Given the description of an element on the screen output the (x, y) to click on. 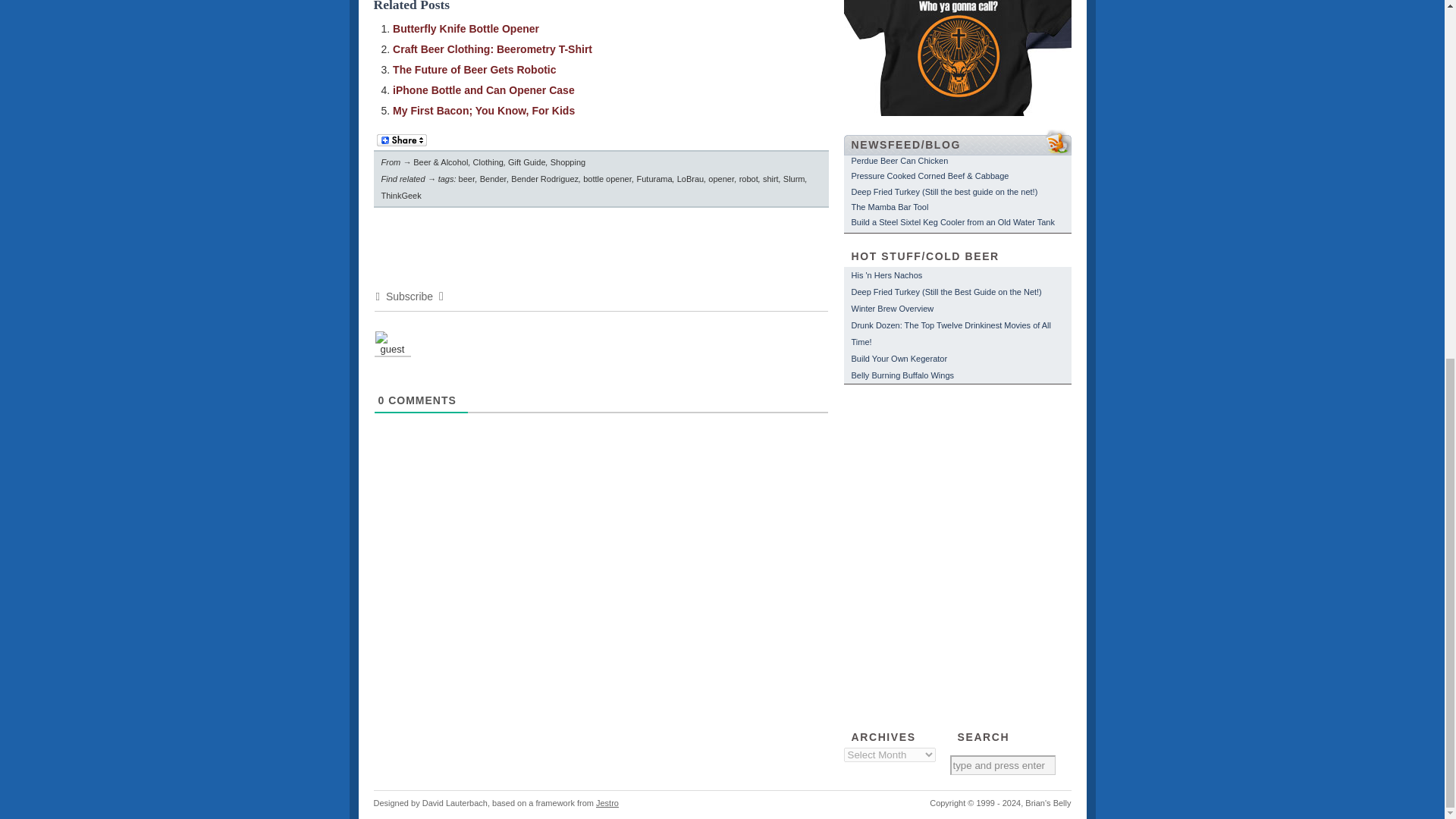
iPhone Bottle and Can Opener Case (484, 90)
type and press enter (1001, 764)
Butterfly Knife Bottle Opener (465, 28)
The Future of Beer Gets Robotic (474, 69)
Craft Beer Clothing: Beerometry T-Shirt (492, 49)
My First Bacon; You Know, For Kids (484, 110)
